Given the description of an element on the screen output the (x, y) to click on. 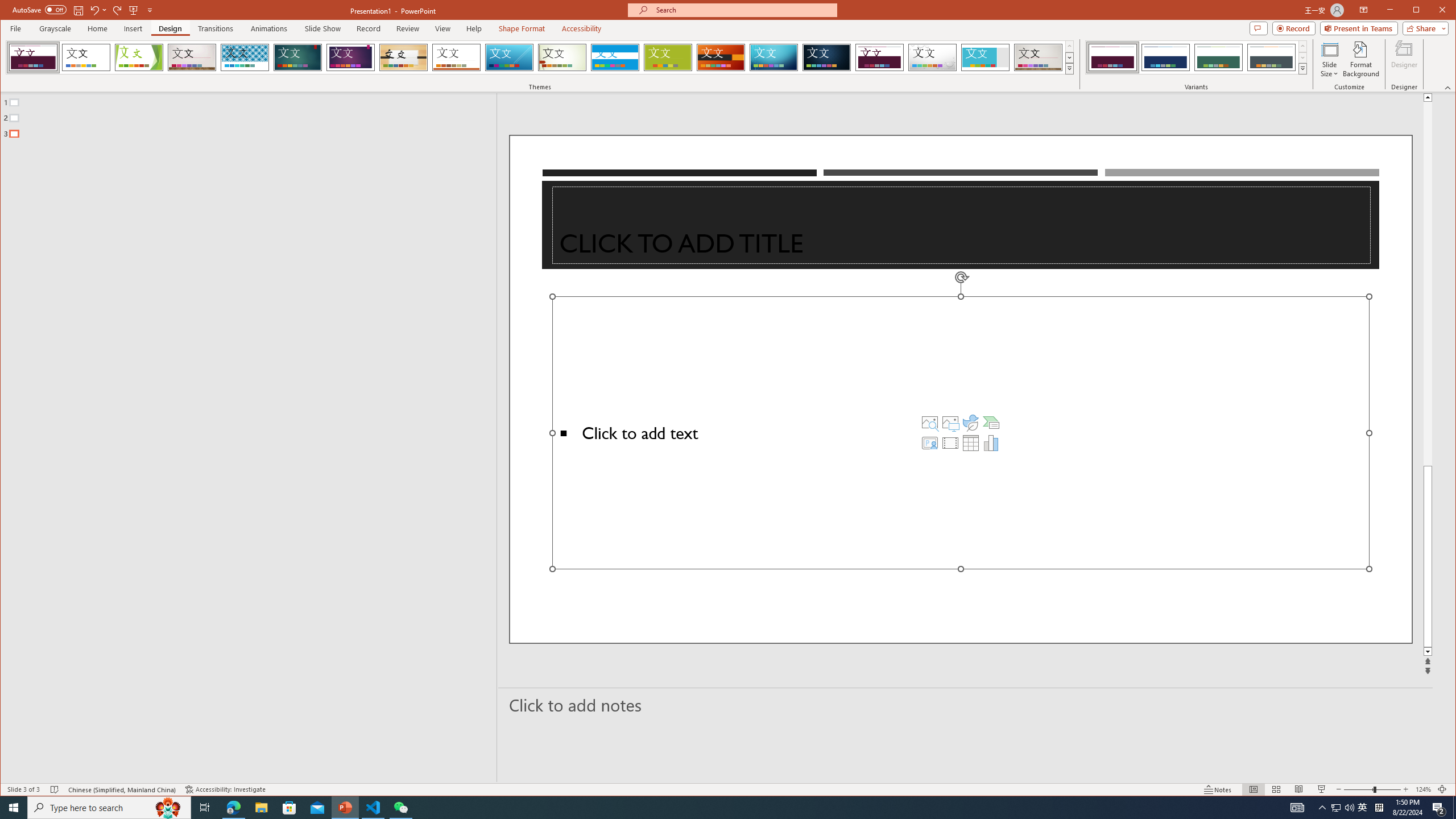
Circuit (773, 57)
Dividend Variant 4 (1270, 57)
Droplet (932, 57)
Dividend Variant 1 (1112, 57)
